Given the description of an element on the screen output the (x, y) to click on. 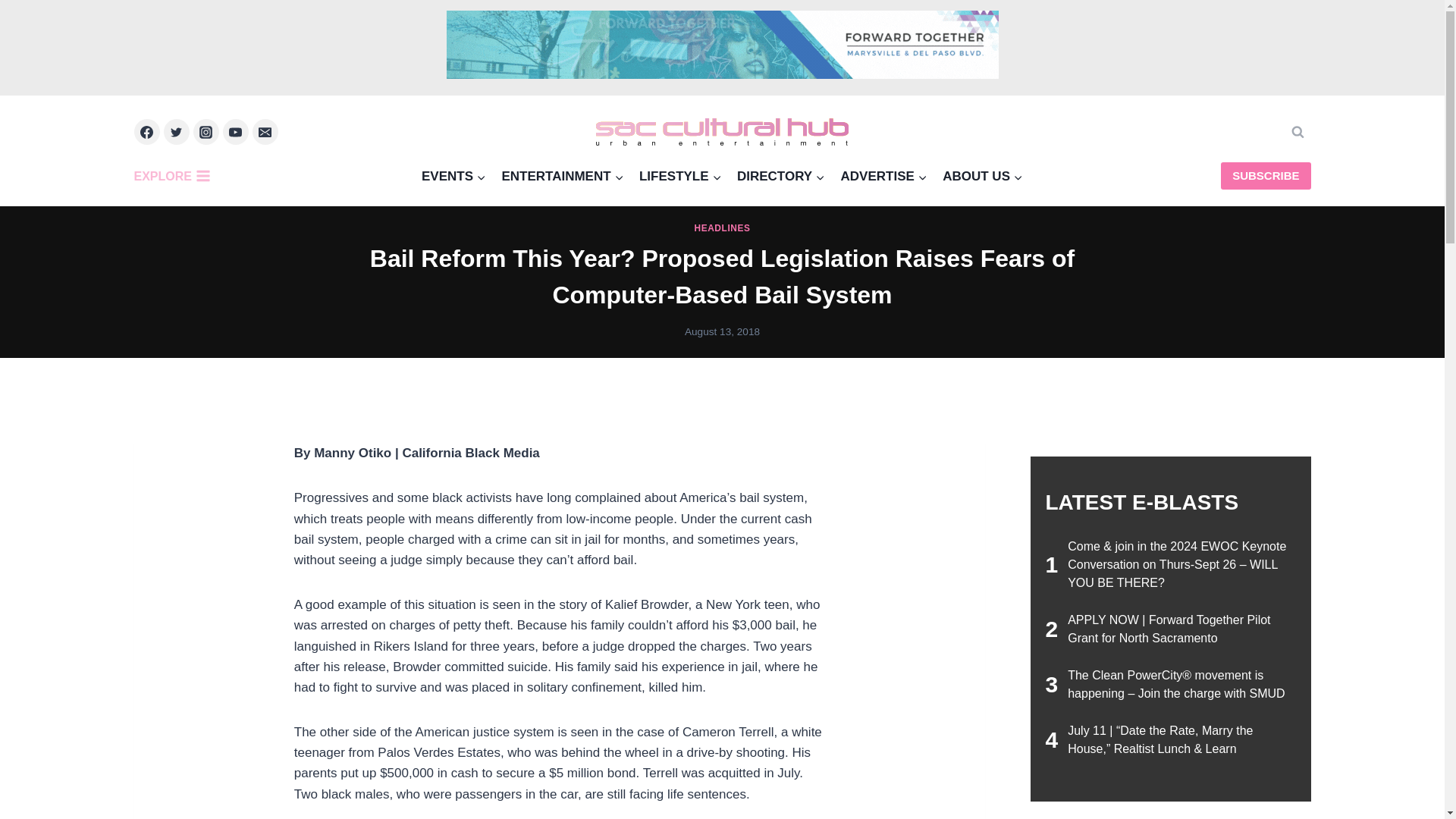
ENTERTAINMENT (562, 175)
EXPLORE (174, 175)
LIFESTYLE (680, 175)
EVENTS (453, 175)
